Given the description of an element on the screen output the (x, y) to click on. 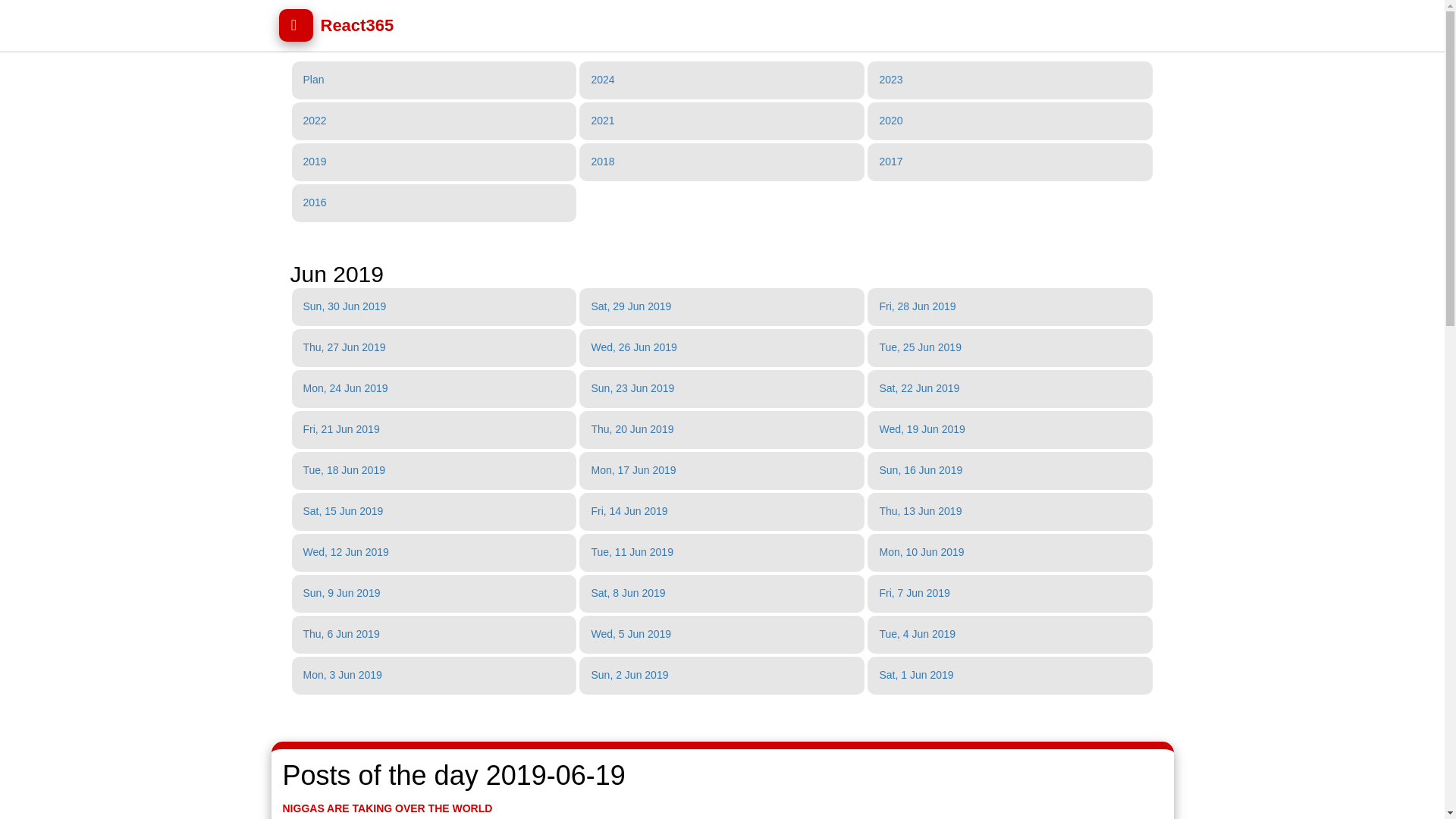
2019 (314, 161)
2018 (602, 161)
Mon, 17 Jun 2019 (633, 469)
Wed, 5 Jun 2019 (631, 633)
Sun, 16 Jun 2019 (920, 469)
Sat, 29 Jun 2019 (631, 306)
Sun, 30 Jun 2019 (344, 306)
Thu, 13 Jun 2019 (919, 510)
Tue, 18 Jun 2019 (343, 469)
Mon, 10 Jun 2019 (921, 551)
